Given the description of an element on the screen output the (x, y) to click on. 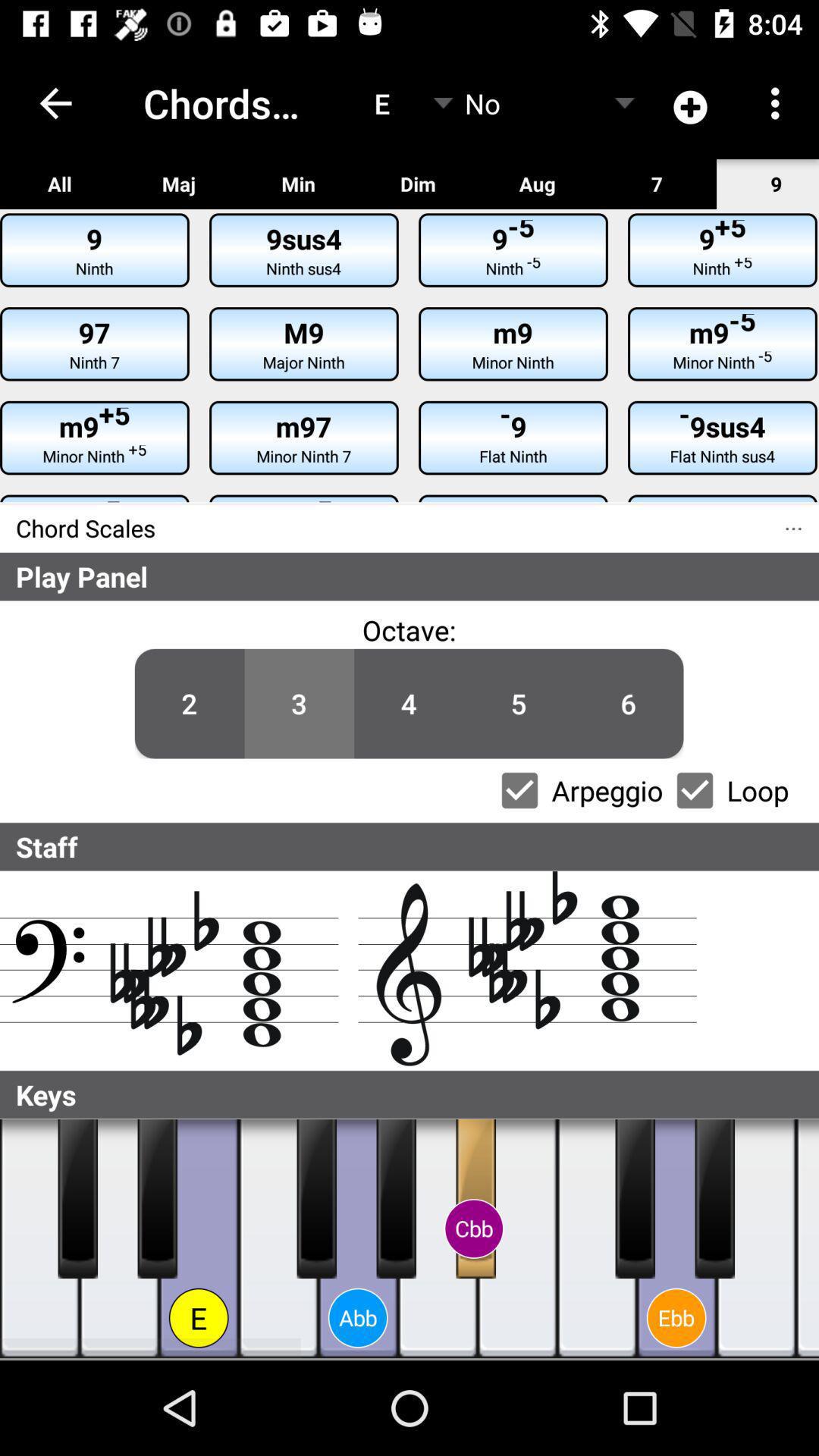
black piano key (635, 1198)
